Given the description of an element on the screen output the (x, y) to click on. 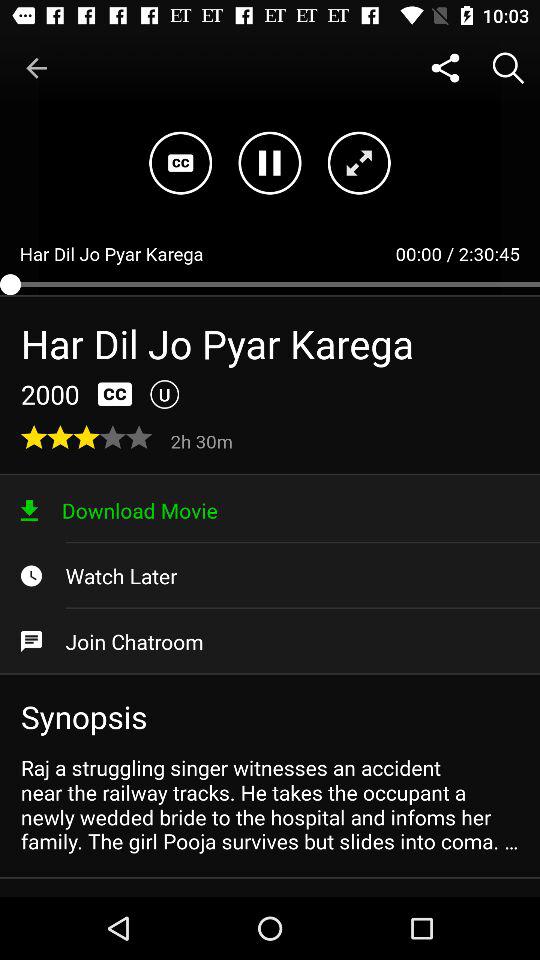
launch item below 2h 30m (270, 510)
